Given the description of an element on the screen output the (x, y) to click on. 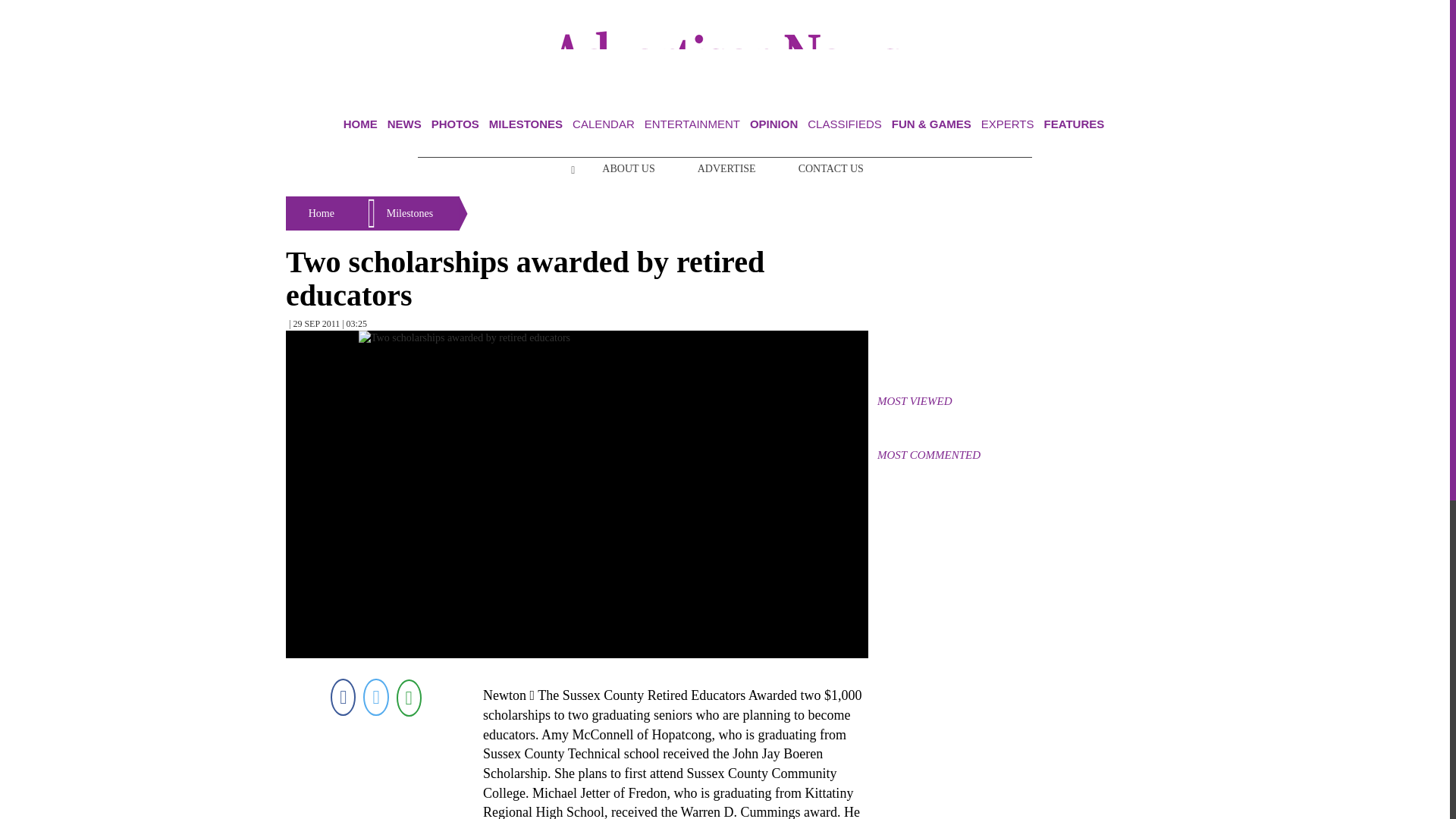
PHOTOS (454, 123)
FEATURES (1074, 123)
CLASSIFIEDS (845, 123)
EXPERTS (1007, 123)
MILESTONES (525, 123)
News (404, 123)
Photos (454, 123)
Home (360, 123)
CALENDAR (603, 123)
NEWS (404, 123)
